Given the description of an element on the screen output the (x, y) to click on. 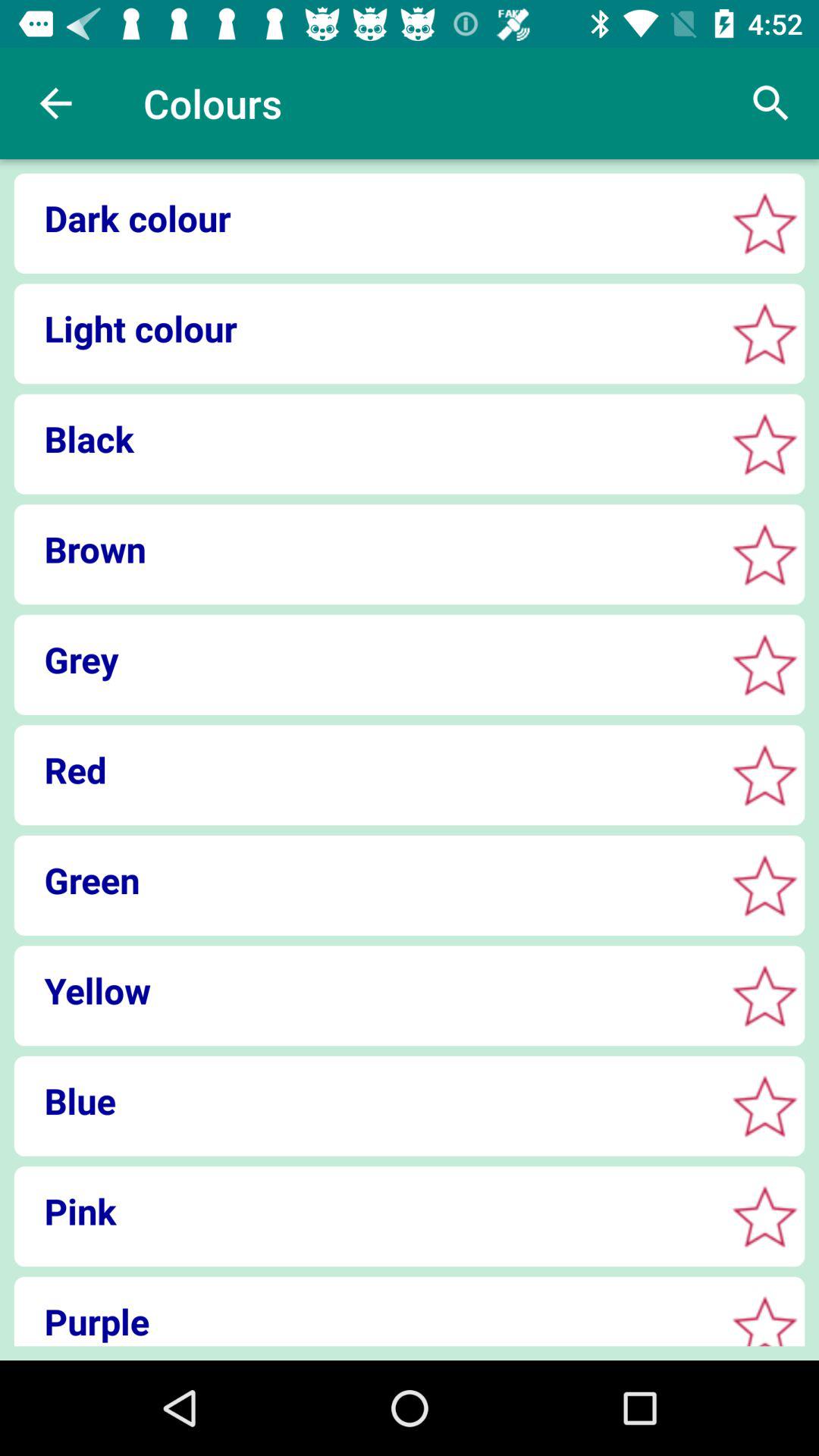
select yellow (764, 995)
